Given the description of an element on the screen output the (x, y) to click on. 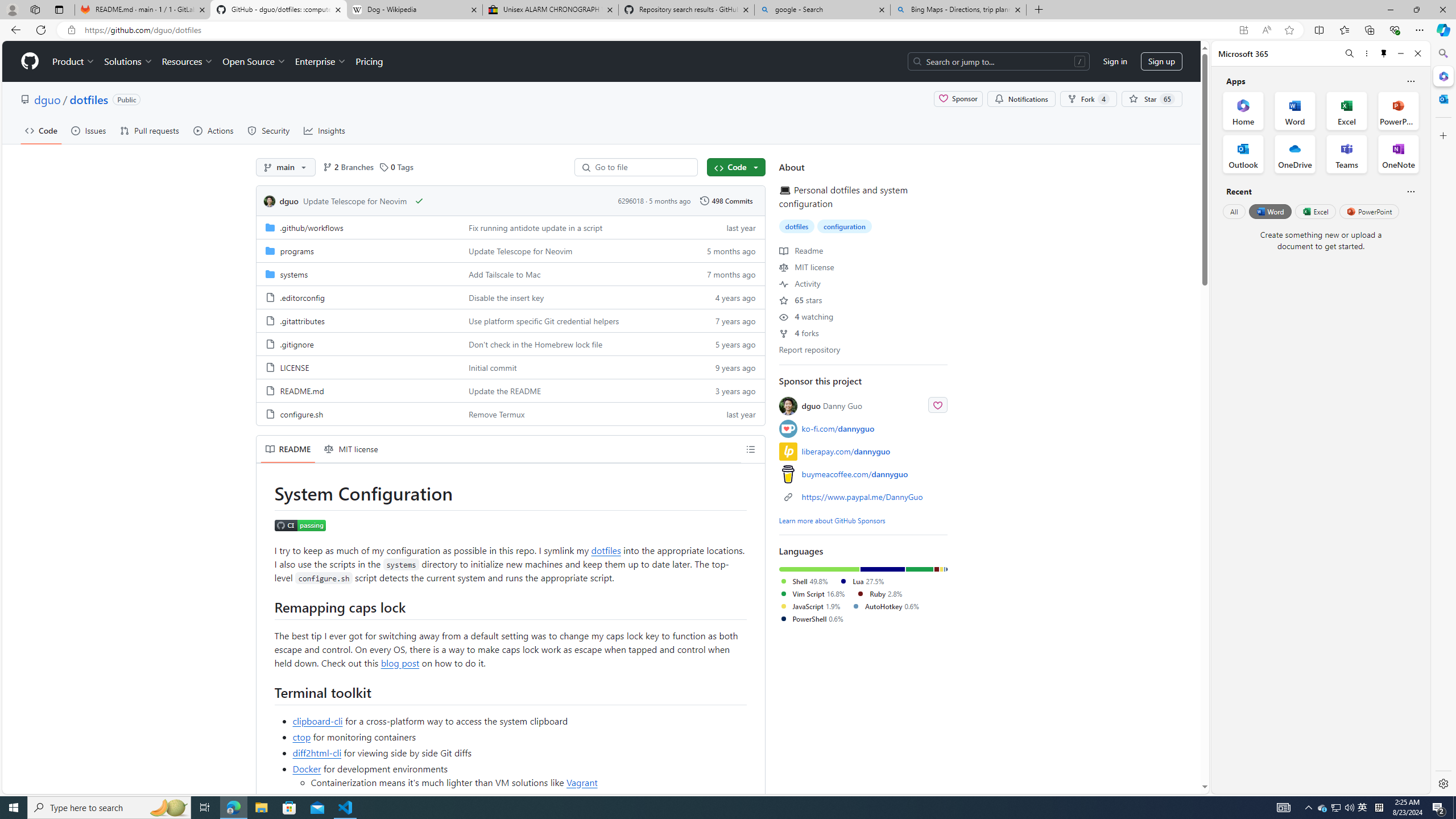
 Star 65 (1151, 98)
CI services (413, 797)
Ruby 2.8% (879, 593)
Lua27.5% (865, 581)
Resources (187, 60)
main branch (284, 167)
